Given the description of an element on the screen output the (x, y) to click on. 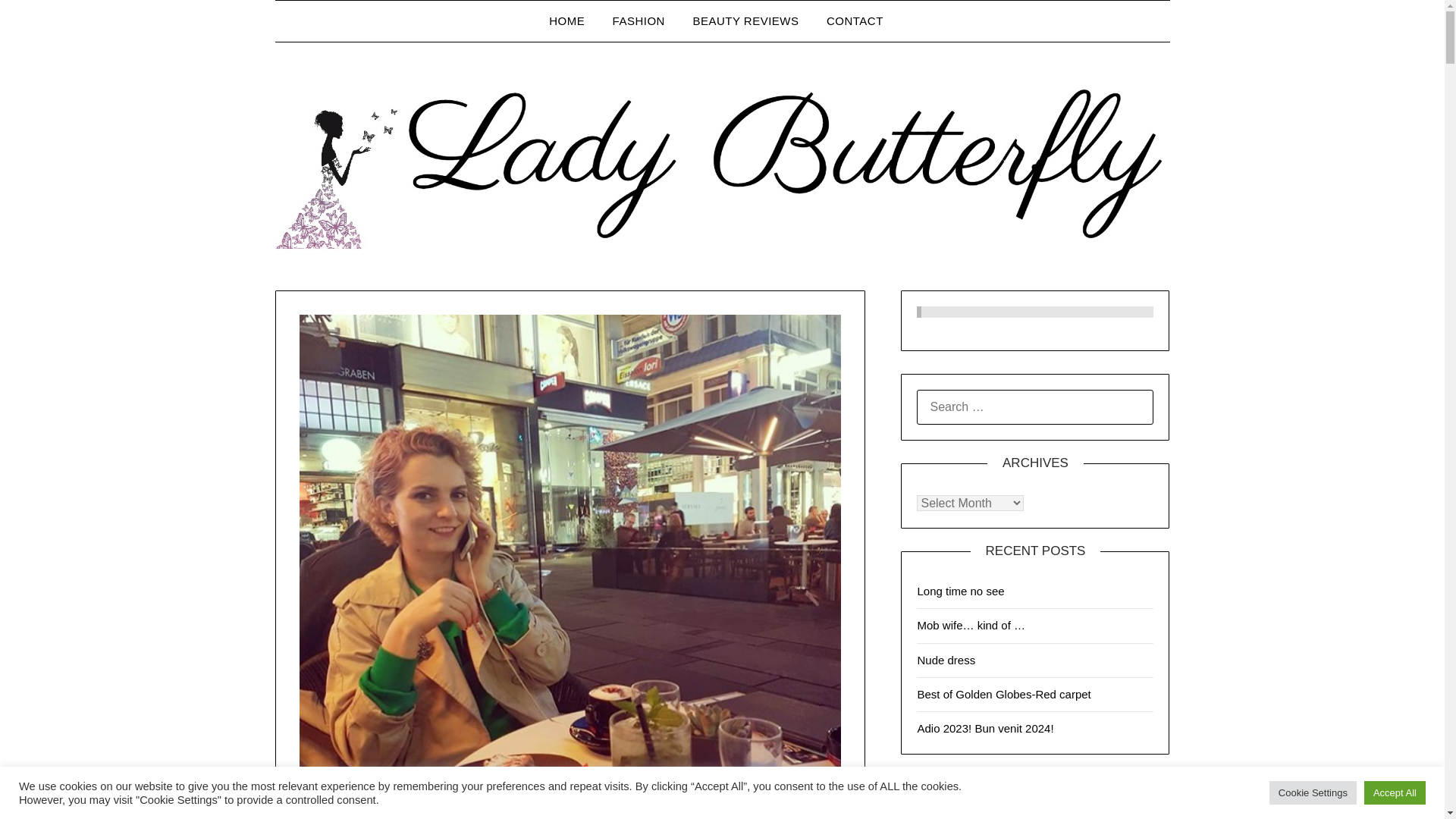
FASHION (638, 20)
HOME (572, 20)
CONTACT (854, 20)
BEAUTY REVIEWS (744, 20)
